Given the description of an element on the screen output the (x, y) to click on. 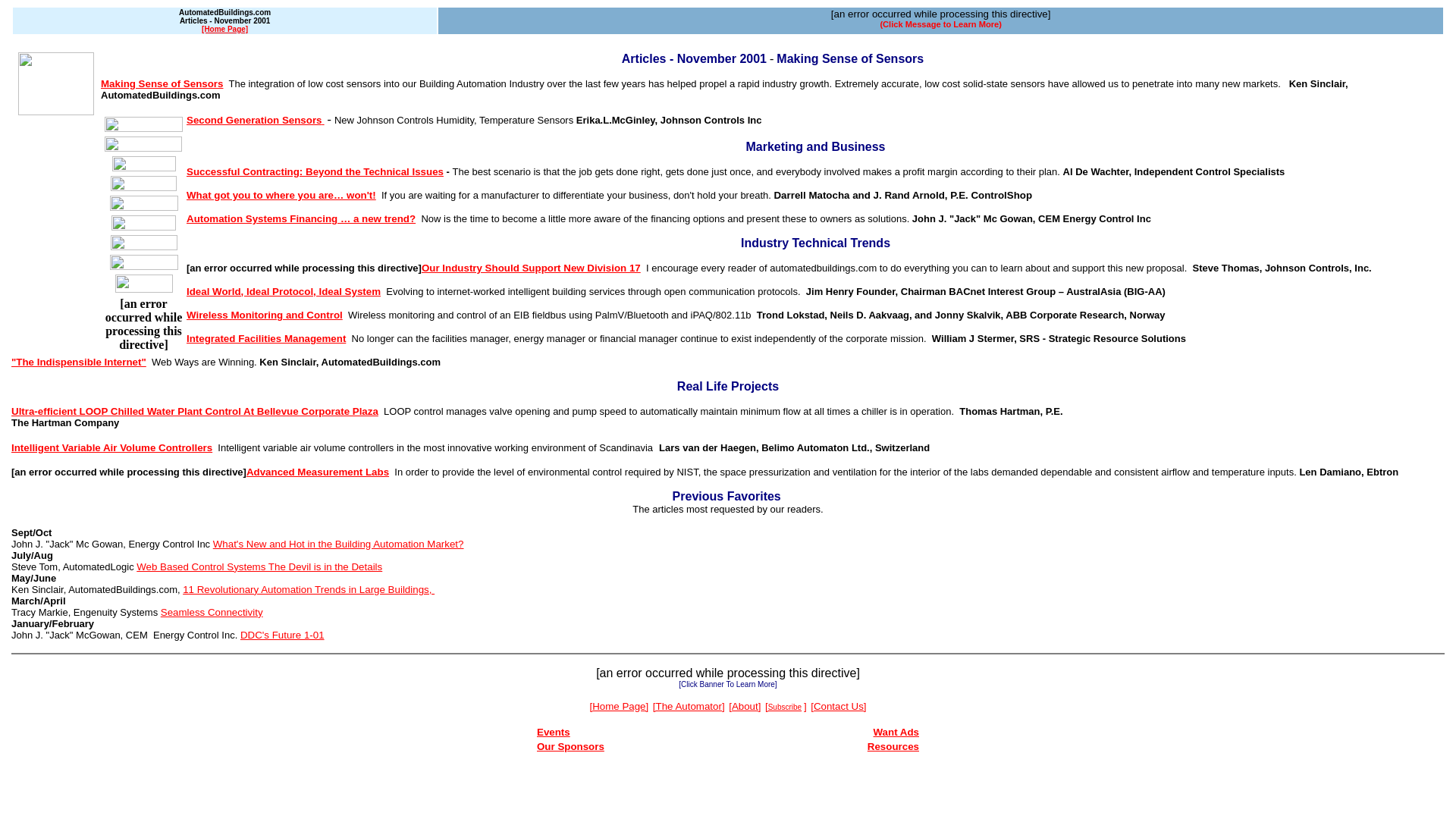
Our Sponsors (570, 746)
Advanced Measurement Labs (317, 471)
Ideal World, Ideal Protocol, Ideal System (283, 291)
Second Generation Sensors  (255, 120)
Intelligent Variable Air Volume Controllers (111, 447)
Our Industry Should Support New Division 17 (531, 267)
Integrated Facilities Management (266, 337)
Subscribe (785, 706)
"The Indispensible Internet" (79, 361)
Seamless Connectivity (211, 612)
Want Ads (895, 731)
DDC's Future 1-01 (282, 634)
Resources (892, 746)
Wireless Monitoring and Control (264, 315)
Events (553, 731)
